Given the description of an element on the screen output the (x, y) to click on. 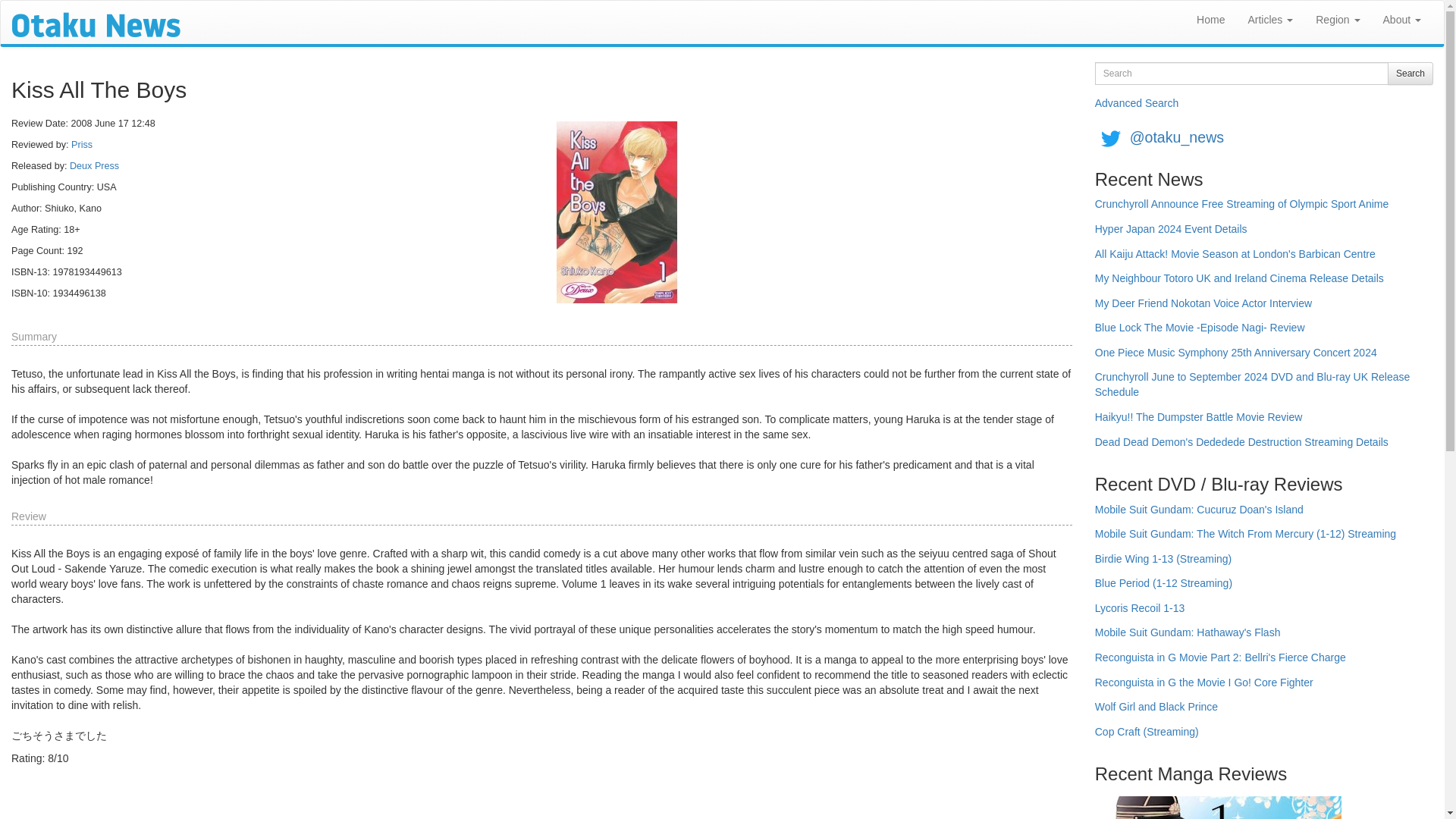
My Neighbour Totoro UK and Ireland Cinema Release Details (1239, 283)
Haikyu!! The Dumpster Battle Movie Review (1198, 422)
Mobile Suit Gundam: Cucuruz Doan's Island (1198, 514)
Advanced Search (1136, 102)
One Piece Music Symphony 25th Anniversary Concert 2024 (1235, 358)
Articles (1270, 19)
Deux Press (94, 165)
Crunchyroll Announce Free Streaming of Olympic Sport Anime (1241, 209)
Blue Lock The Movie -Episode Nagi- Review (1199, 333)
Dead Dead Demon's Dededede Destruction Streaming Details (1241, 447)
About (1401, 19)
Home (1210, 19)
My Deer Friend Nokotan Voice Actor Interview (1202, 308)
All Kaiju Attack! Movie Season at London's Barbican Centre (1234, 259)
